Given the description of an element on the screen output the (x, y) to click on. 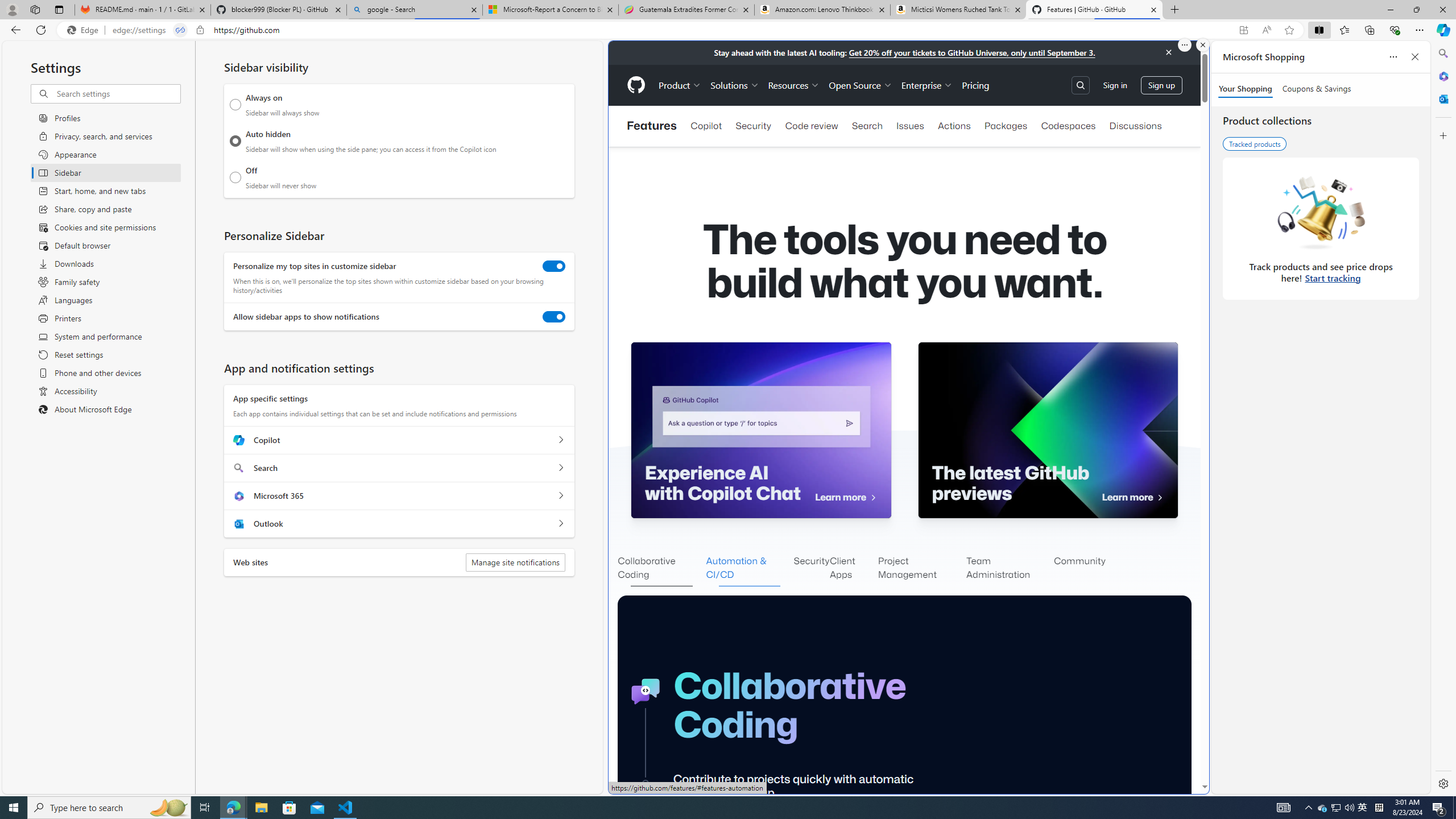
Packages (1005, 125)
Pricing (975, 84)
Team Administration (1009, 568)
Product (679, 84)
Class: octicon arrow-symbol-mktg octicon (1159, 497)
Security (811, 568)
More options. (1183, 45)
Close split screen. (1202, 45)
Resources (793, 84)
Resources (793, 84)
Product (679, 84)
